Given the description of an element on the screen output the (x, y) to click on. 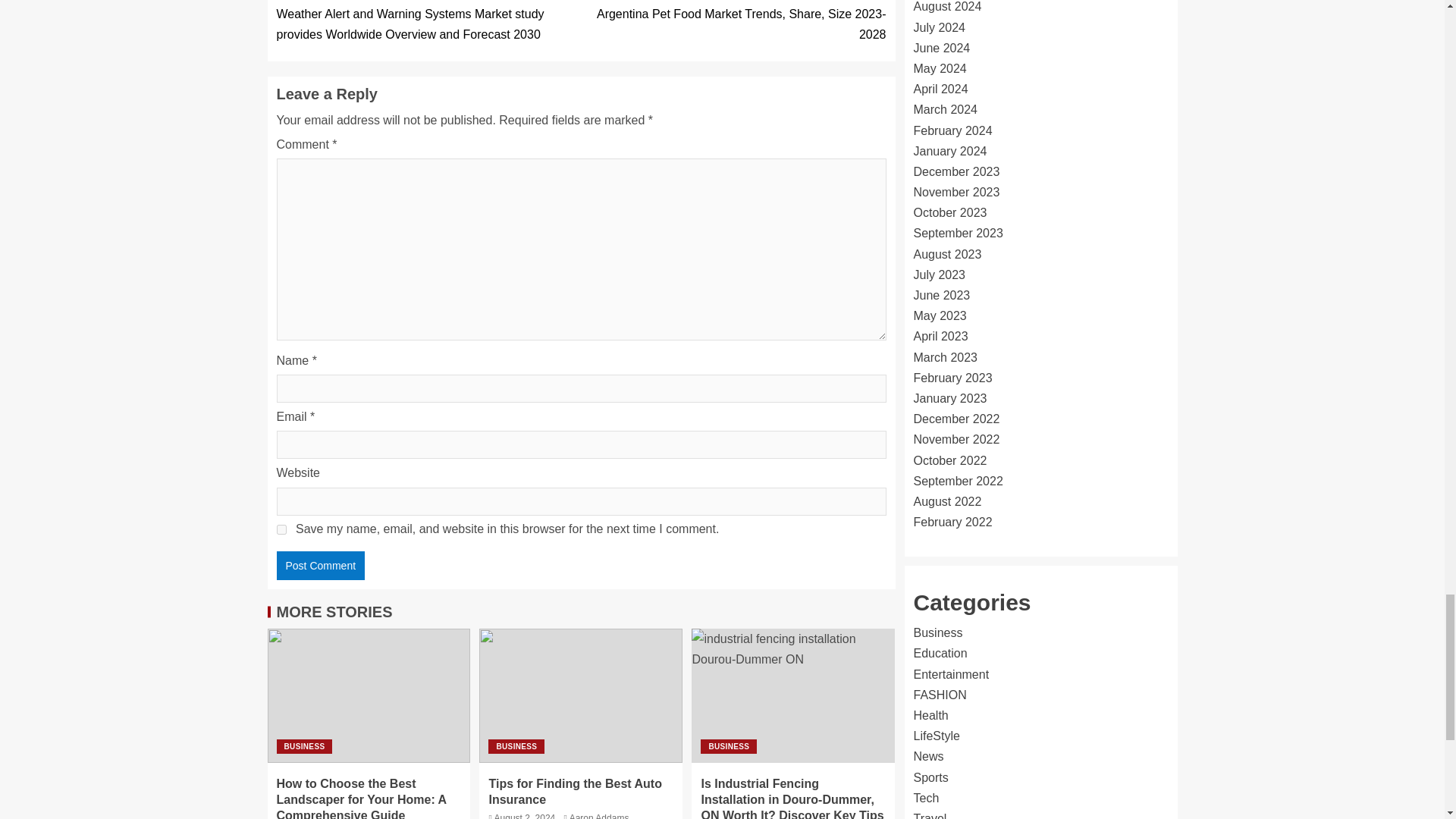
yes (280, 529)
BUSINESS (303, 746)
Post Comment (320, 565)
BUSINESS (515, 746)
Post Comment (320, 565)
